Given the description of an element on the screen output the (x, y) to click on. 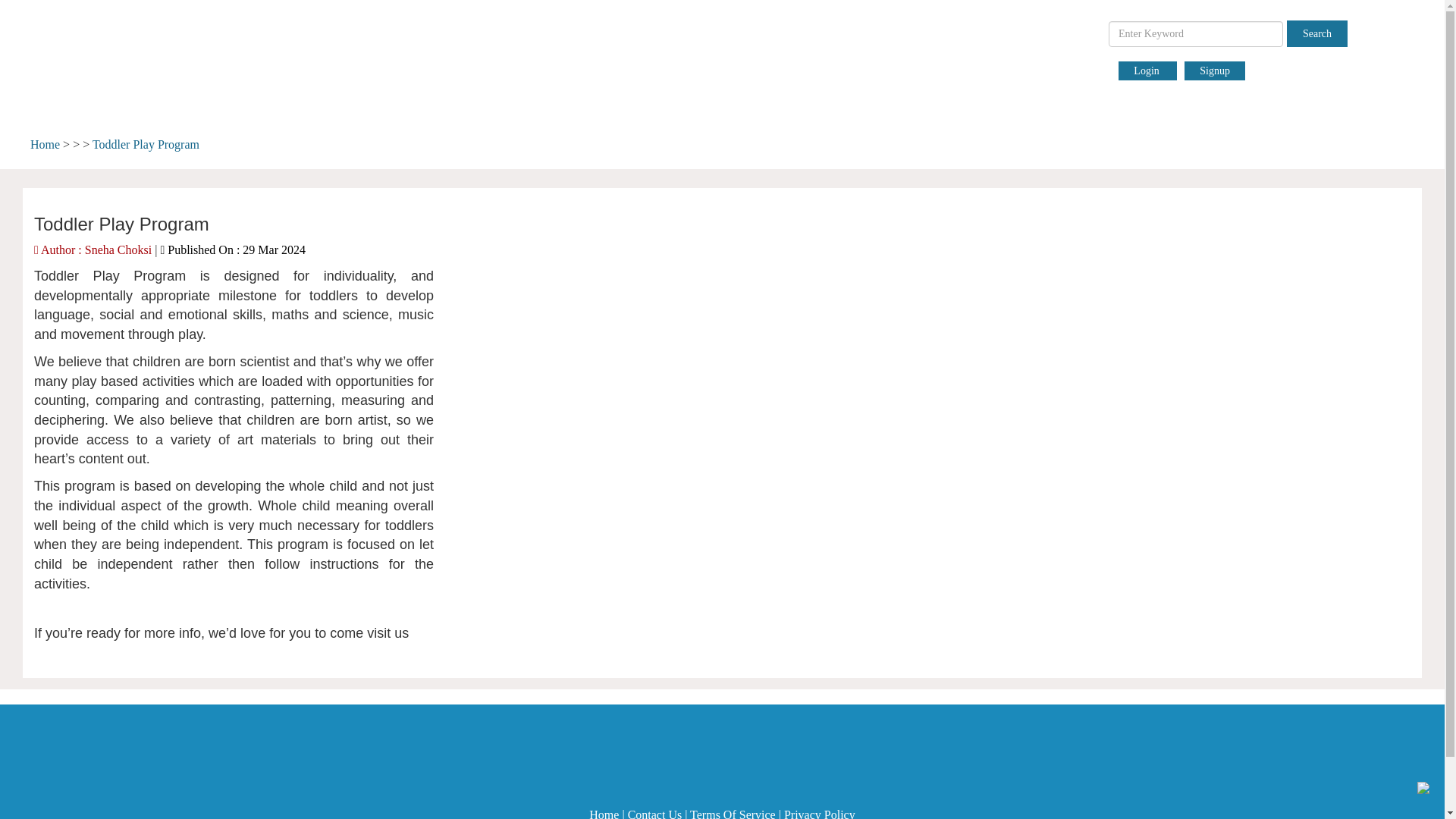
Search (1317, 33)
Terms Of Service (733, 813)
Search (1317, 33)
Contact Us (654, 813)
Login (1147, 70)
Signup (1214, 70)
Toddler Play Program (146, 144)
Home (44, 144)
Privacy Policy (820, 813)
Home (603, 813)
